Given the description of an element on the screen output the (x, y) to click on. 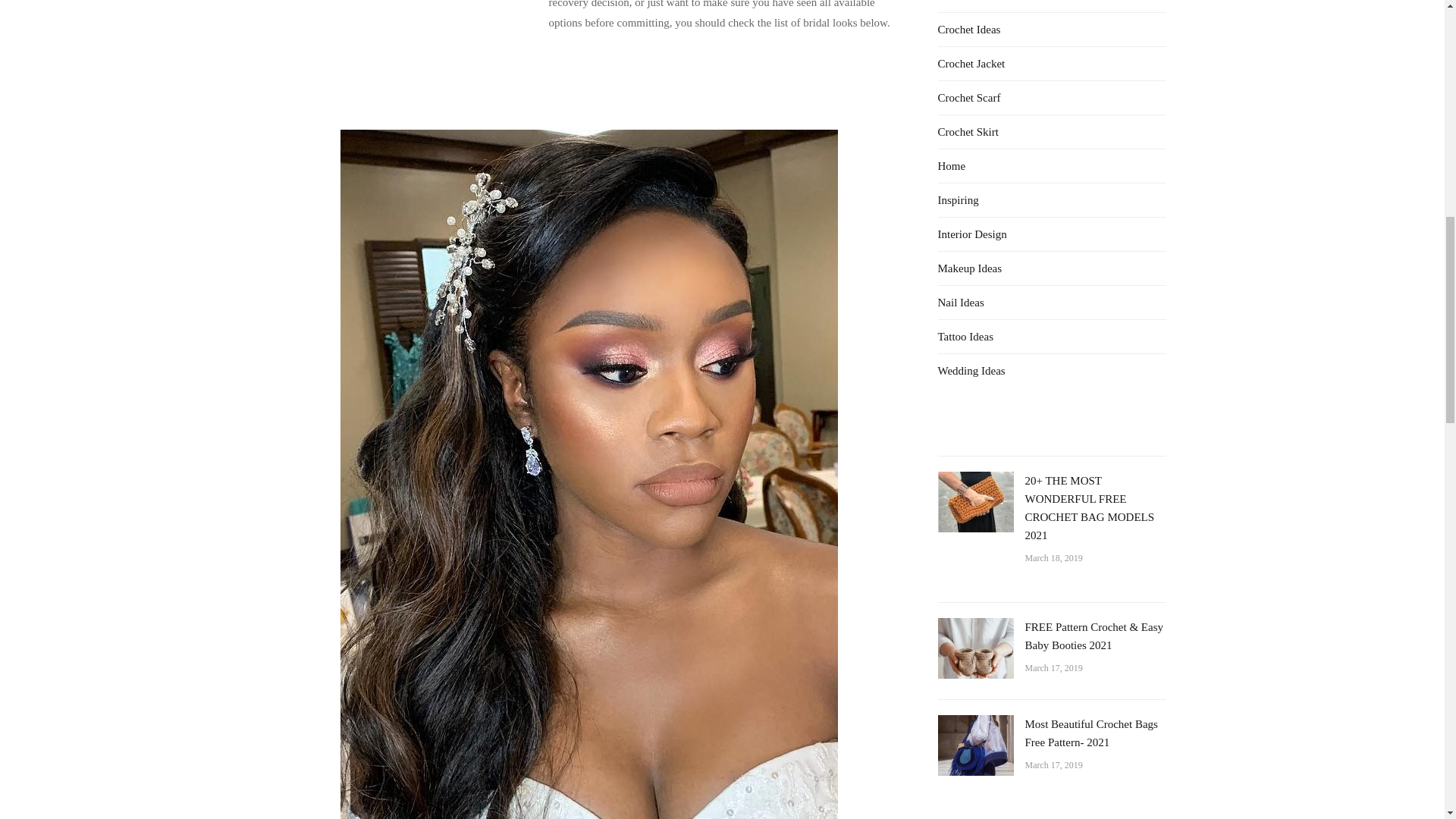
Most Beautiful Crochet Bags Free Pattern- 2021 (975, 744)
Advertisement (406, 61)
Most Beautiful Crochet Bags Free Pattern- 2021 (1091, 733)
